Given the description of an element on the screen output the (x, y) to click on. 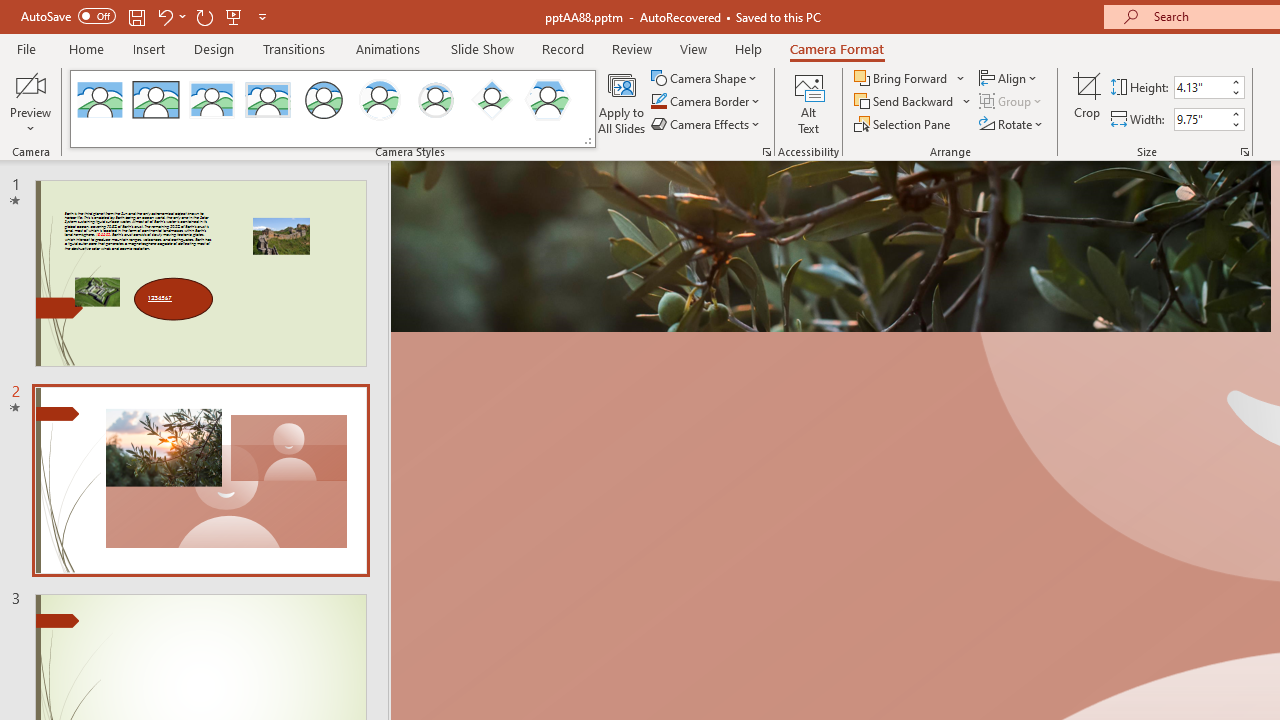
Less (1235, 124)
Send Backward (913, 101)
Camera Border (706, 101)
Camera Shape (705, 78)
Apply to All Slides (621, 102)
Cameo Height (1201, 87)
Camera Format (836, 48)
Camera Effects (706, 124)
